Given the description of an element on the screen output the (x, y) to click on. 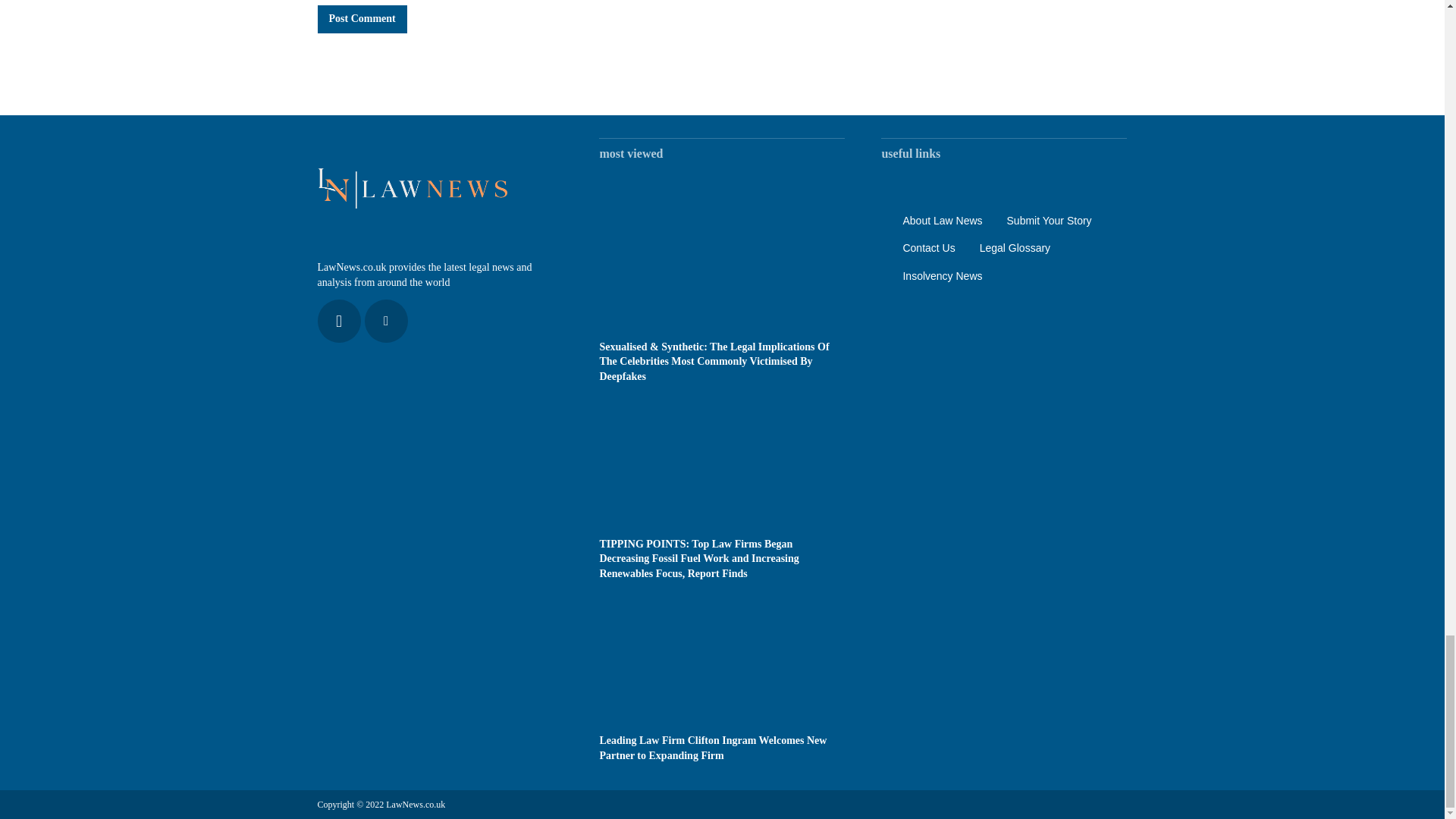
Post Comment (361, 18)
